Given the description of an element on the screen output the (x, y) to click on. 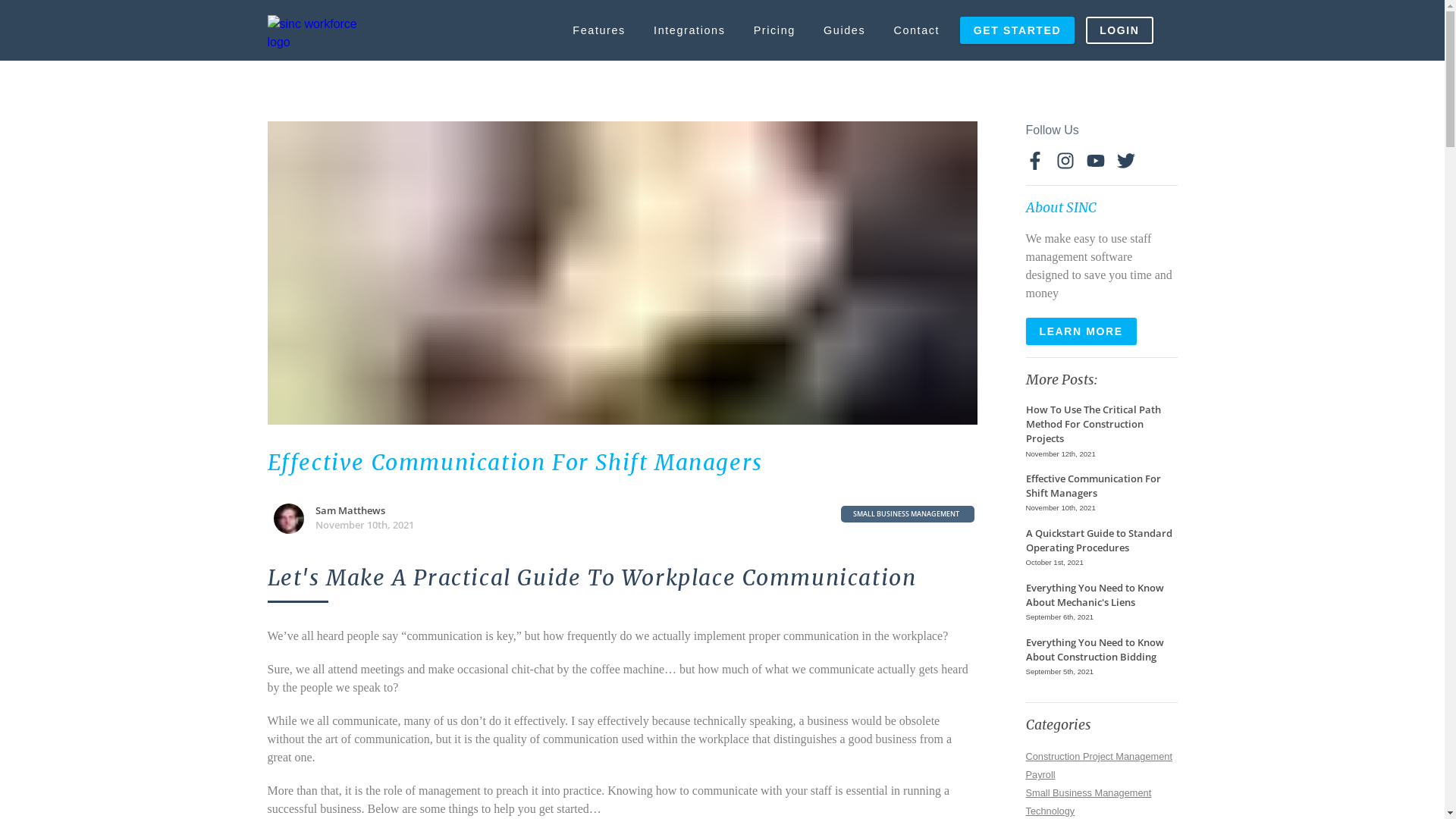
LOGIN Element type: text (1119, 30)
Pricing Element type: text (774, 30)
Construction Project Management Element type: text (1098, 755)
Integrations Element type: text (689, 30)
GET STARTED Element type: text (1017, 29)
LEARN MORE Element type: text (1080, 331)
Payroll Element type: text (1039, 773)
Small Business Management Element type: text (1088, 791)
Features Element type: text (598, 30)
LEARN MORE Element type: text (1080, 331)
LOGIN Element type: text (1118, 29)
GET STARTED Element type: text (1017, 30)
Technology Element type: text (1049, 809)
SMALL BUSINESS MANAGEMENT Element type: text (906, 513)
Contact Element type: text (916, 30)
Guides Element type: text (843, 30)
